Given the description of an element on the screen output the (x, y) to click on. 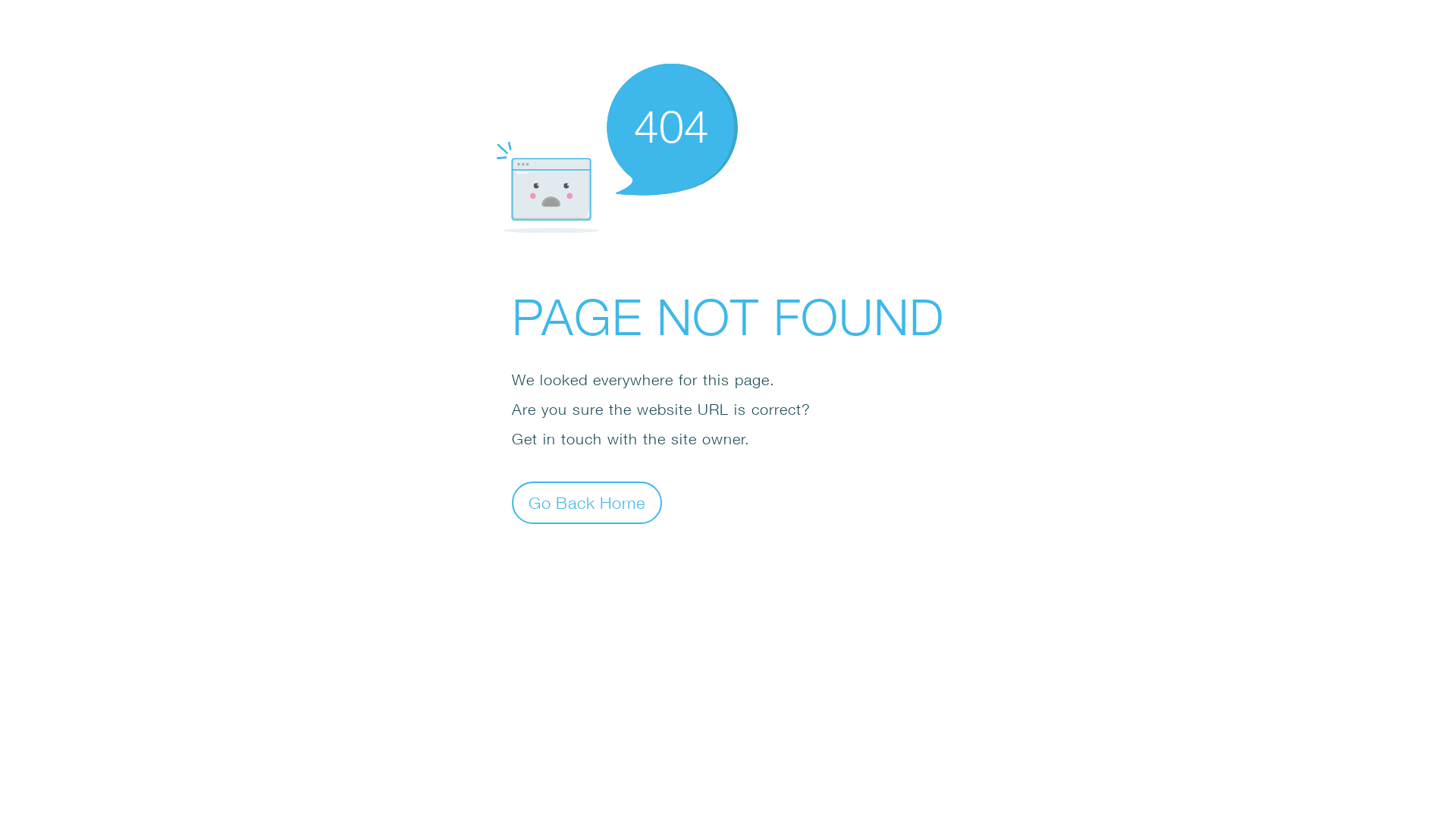
Go Back Home Element type: text (586, 502)
